Given the description of an element on the screen output the (x, y) to click on. 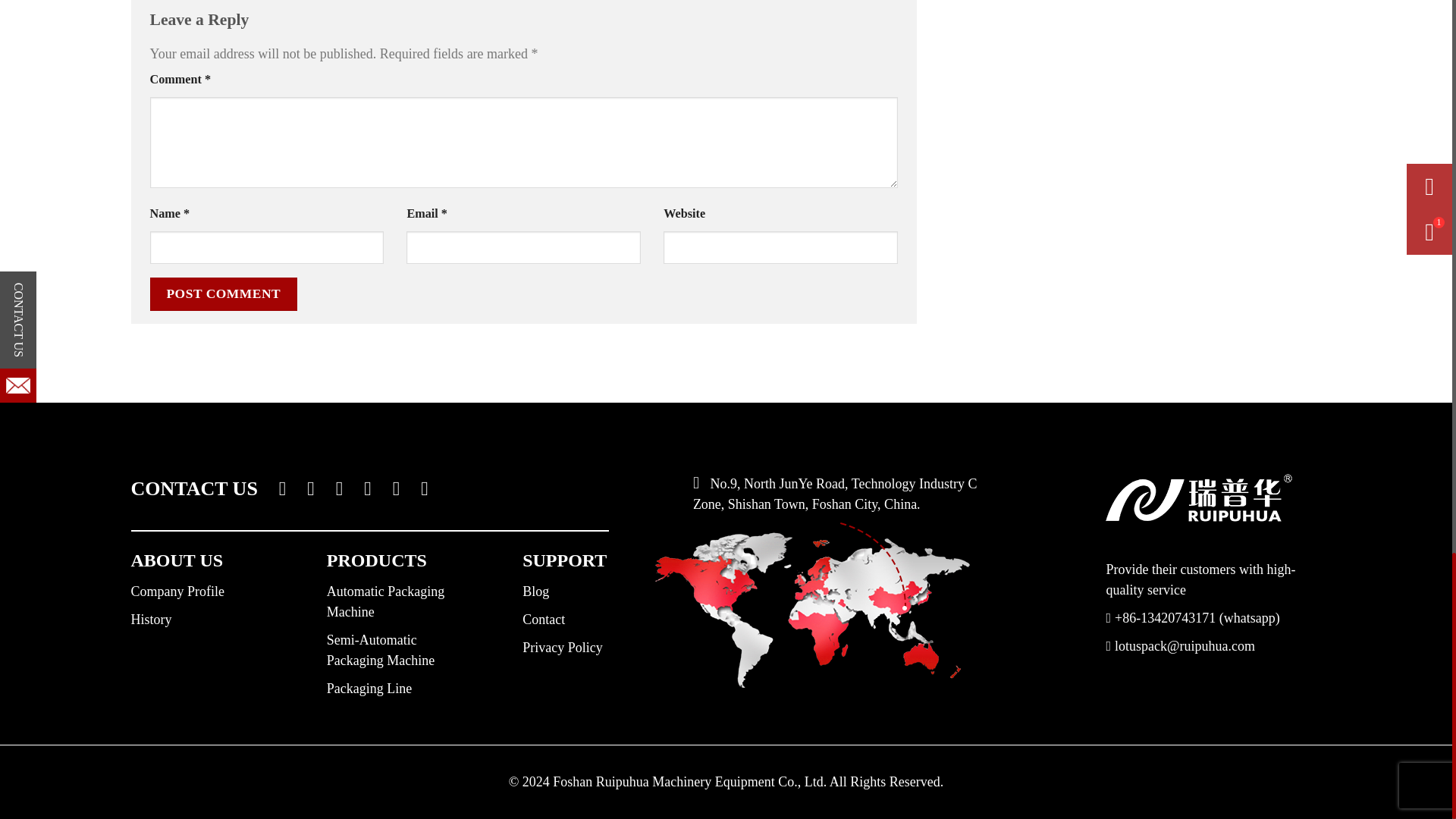
Contact (543, 619)
Company Profile (177, 590)
Blog (535, 590)
Ruipuhua (1198, 497)
map (812, 604)
Post Comment (223, 294)
History (151, 619)
Semi-Automatic Packaging Machine (379, 650)
Privacy Policy (562, 647)
Automatic Packaging Machine (385, 601)
